Given the description of an element on the screen output the (x, y) to click on. 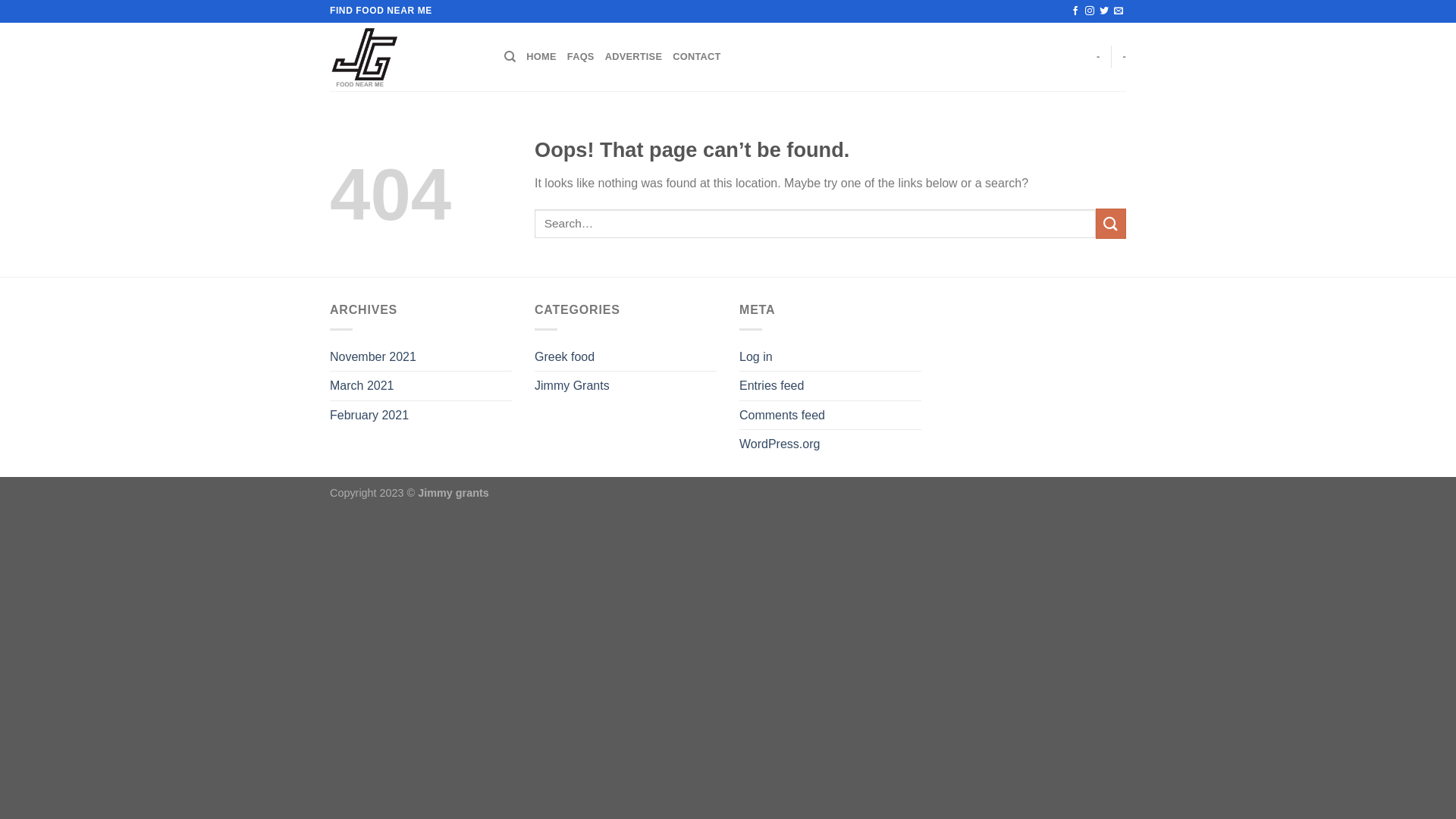
FAQS Element type: text (580, 56)
November 2021 Element type: text (372, 356)
- Element type: text (1098, 56)
CONTACT Element type: text (696, 56)
ADVERTISE Element type: text (633, 56)
Entries feed Element type: text (771, 385)
Greek food Element type: text (564, 356)
February 2021 Element type: text (368, 415)
WordPress.org Element type: text (779, 443)
HOME Element type: text (540, 56)
- Element type: text (1124, 56)
Jimmy Grants Element type: text (571, 385)
March 2021 Element type: text (361, 385)
Log in Element type: text (755, 356)
Comments feed Element type: text (782, 415)
